Given the description of an element on the screen output the (x, y) to click on. 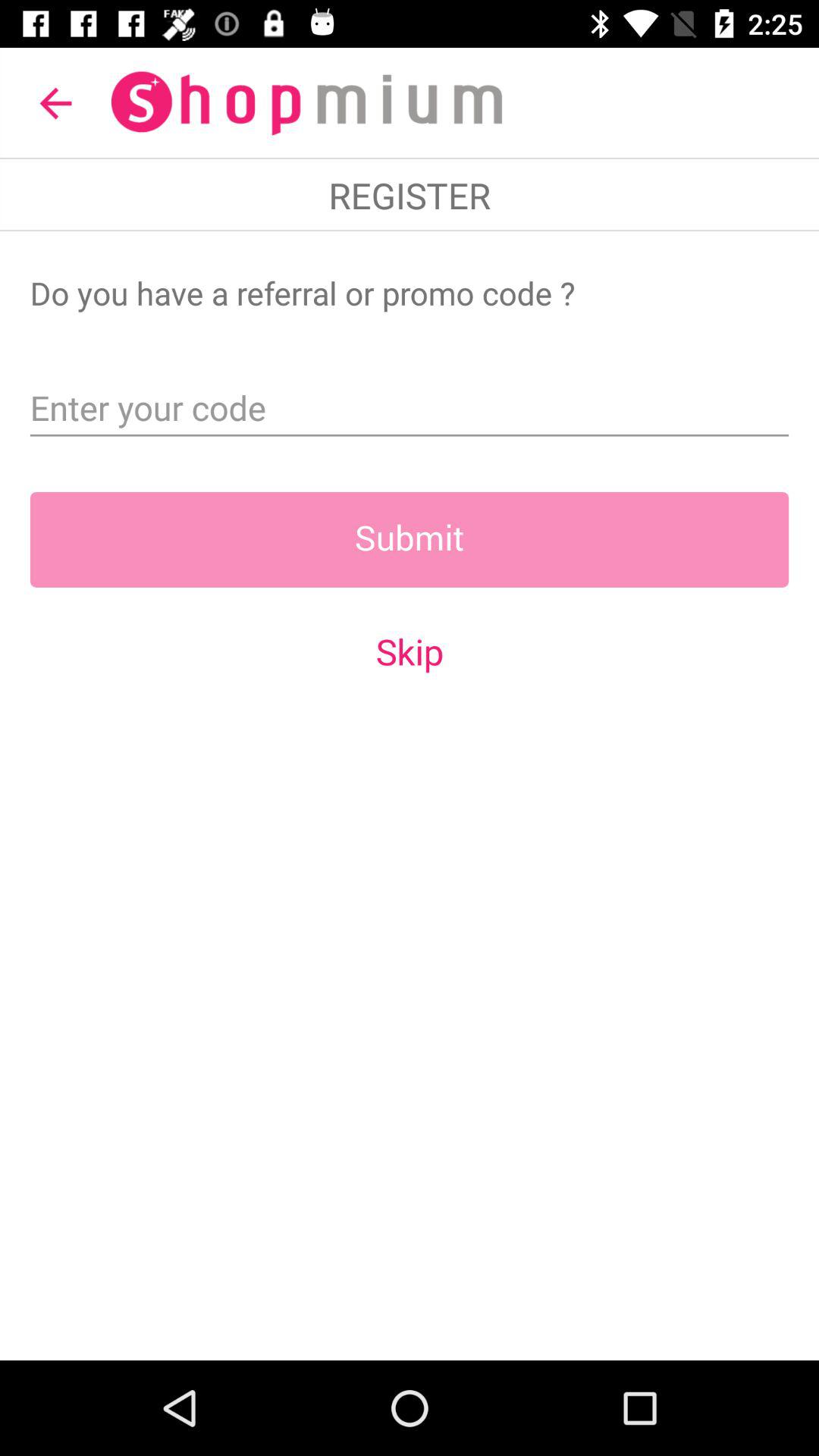
select the skip (409, 651)
